Given the description of an element on the screen output the (x, y) to click on. 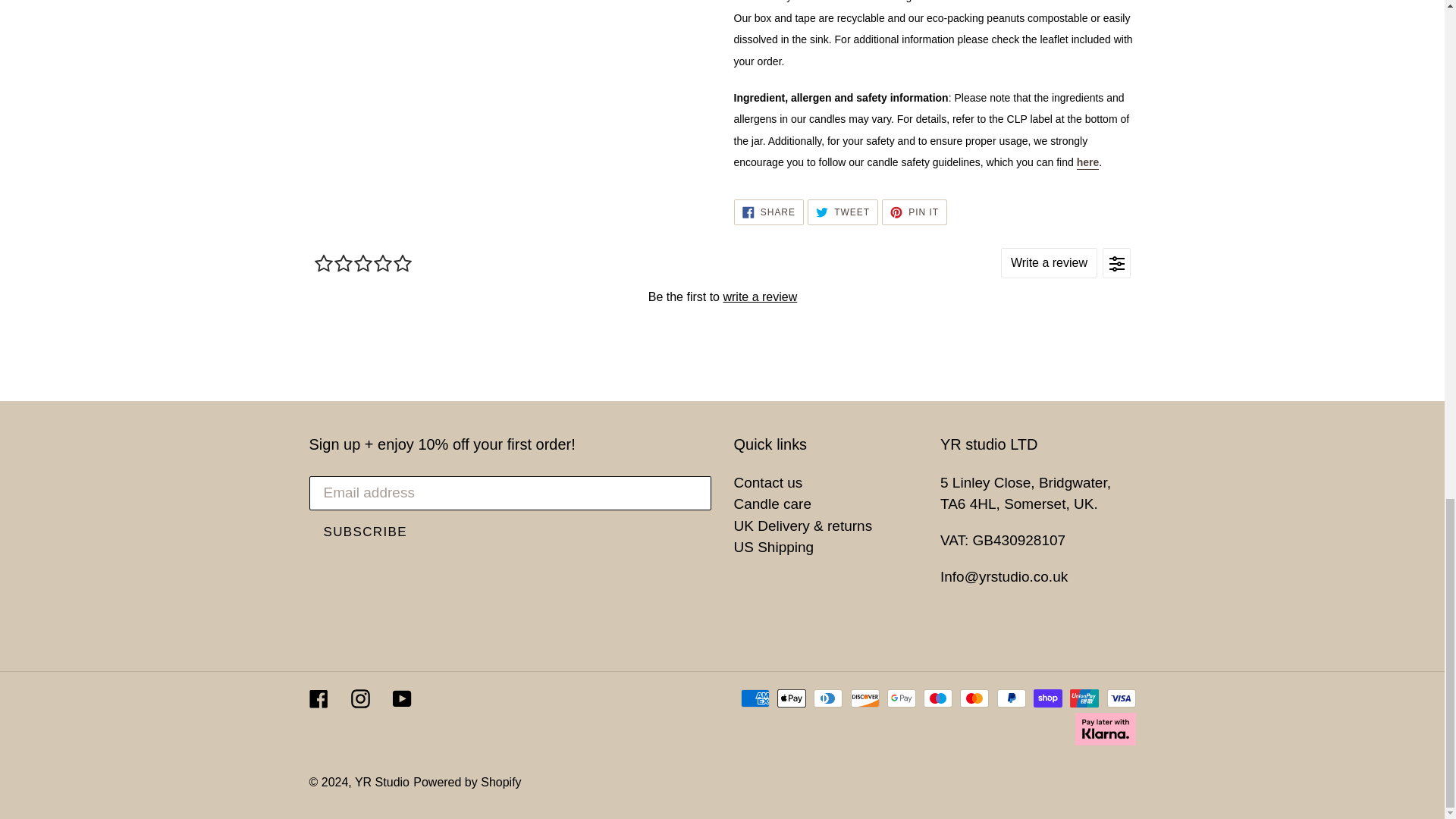
candle safety (1088, 162)
Product reviews widget (721, 295)
